Given the description of an element on the screen output the (x, y) to click on. 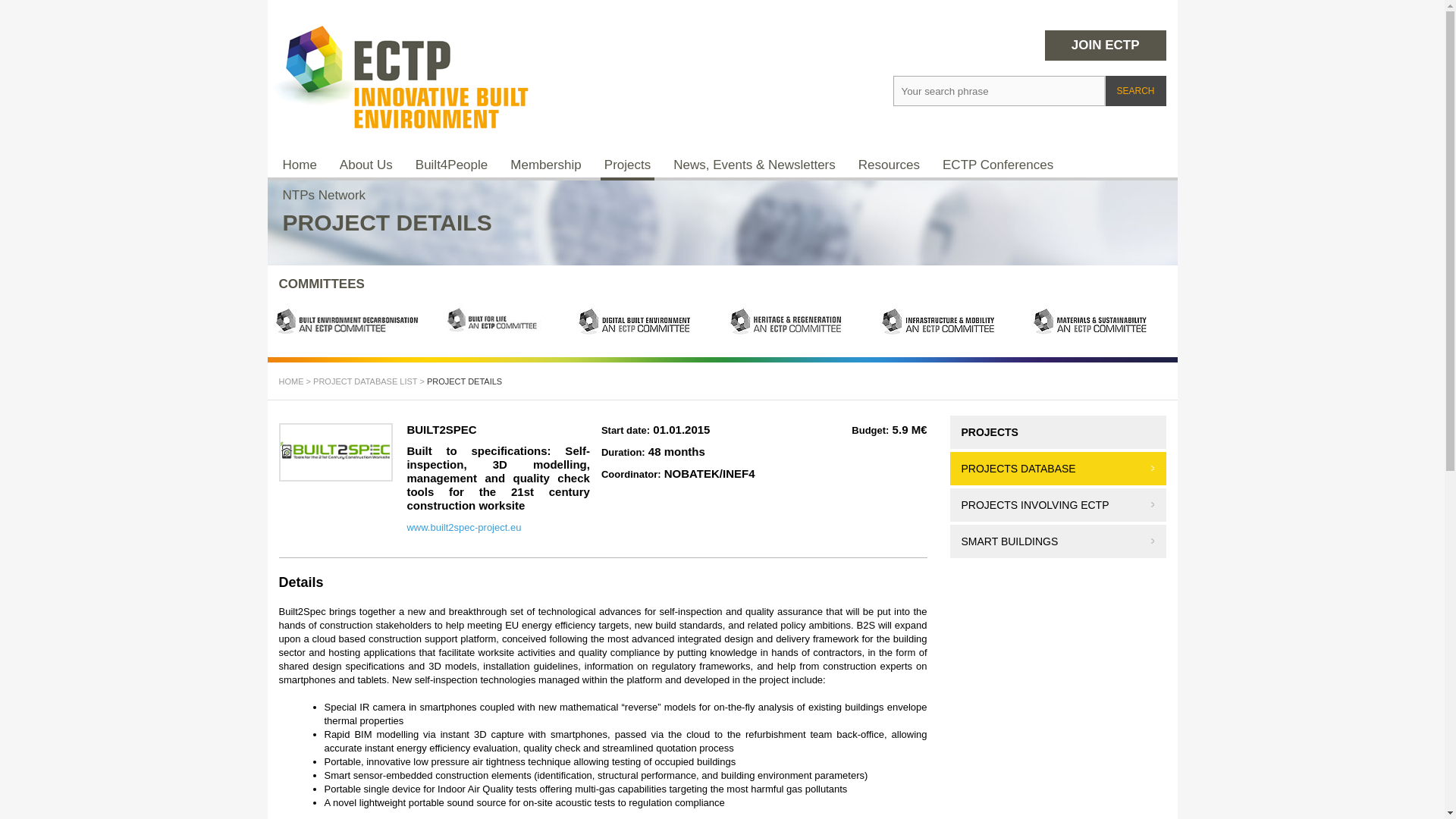
Find (1017, 128)
ECTP Conferences (998, 164)
Home (291, 380)
COMMITTEES (322, 283)
Project database list (364, 380)
Search (1135, 91)
NTPs Network (324, 195)
Membership (545, 164)
Projects (626, 164)
About Us (366, 164)
JOIN ECTP (1105, 45)
HOME (291, 380)
Digital Built Environment (646, 322)
PROJECT DATABASE LIST (364, 380)
